Given the description of an element on the screen output the (x, y) to click on. 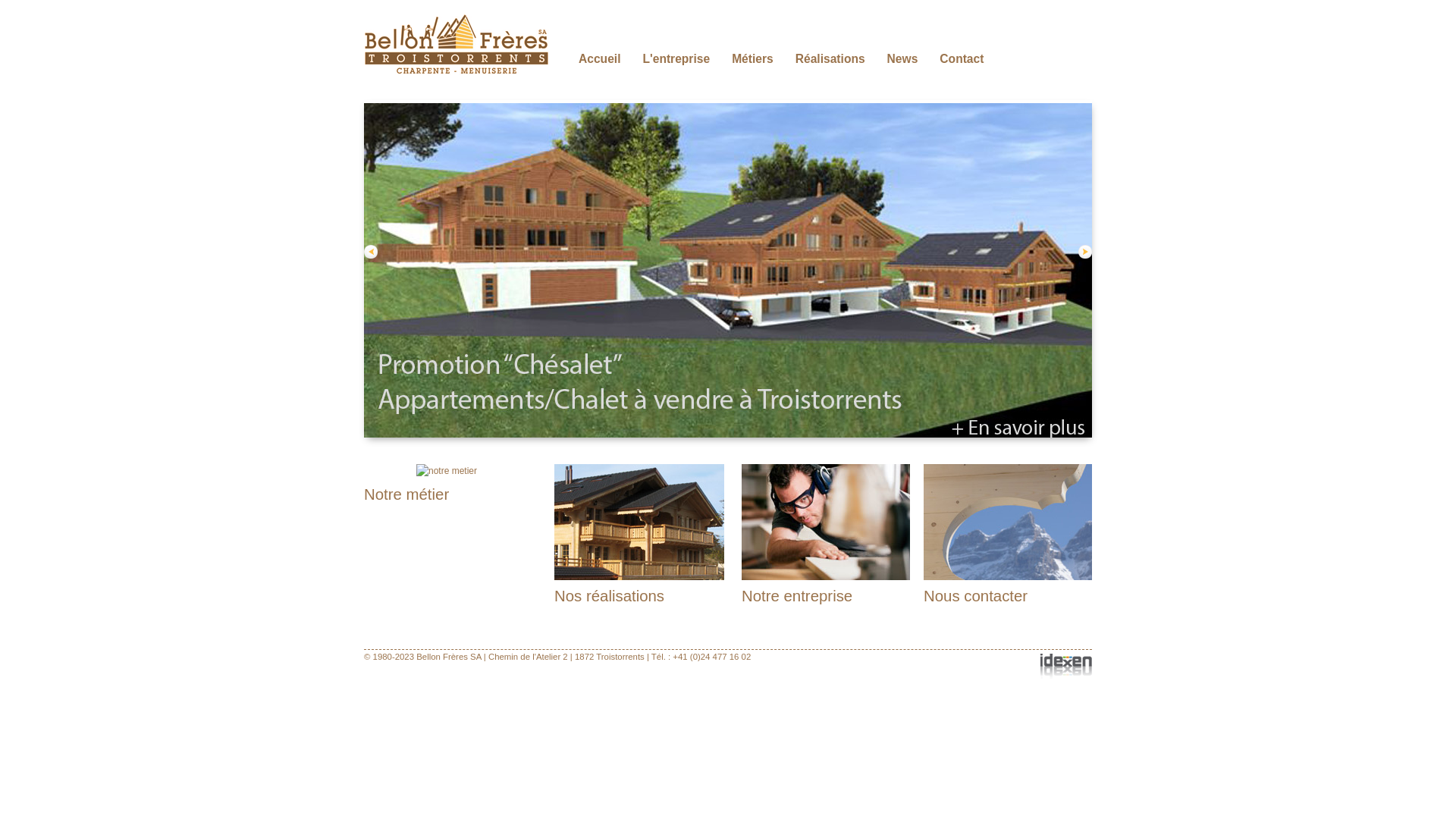
News Element type: text (902, 59)
Notre entreprise Element type: text (796, 595)
Accueil Element type: text (599, 59)
Contact Element type: text (961, 59)
Nous contacter Element type: text (975, 595)
L'entreprise Element type: text (675, 59)
